Given the description of an element on the screen output the (x, y) to click on. 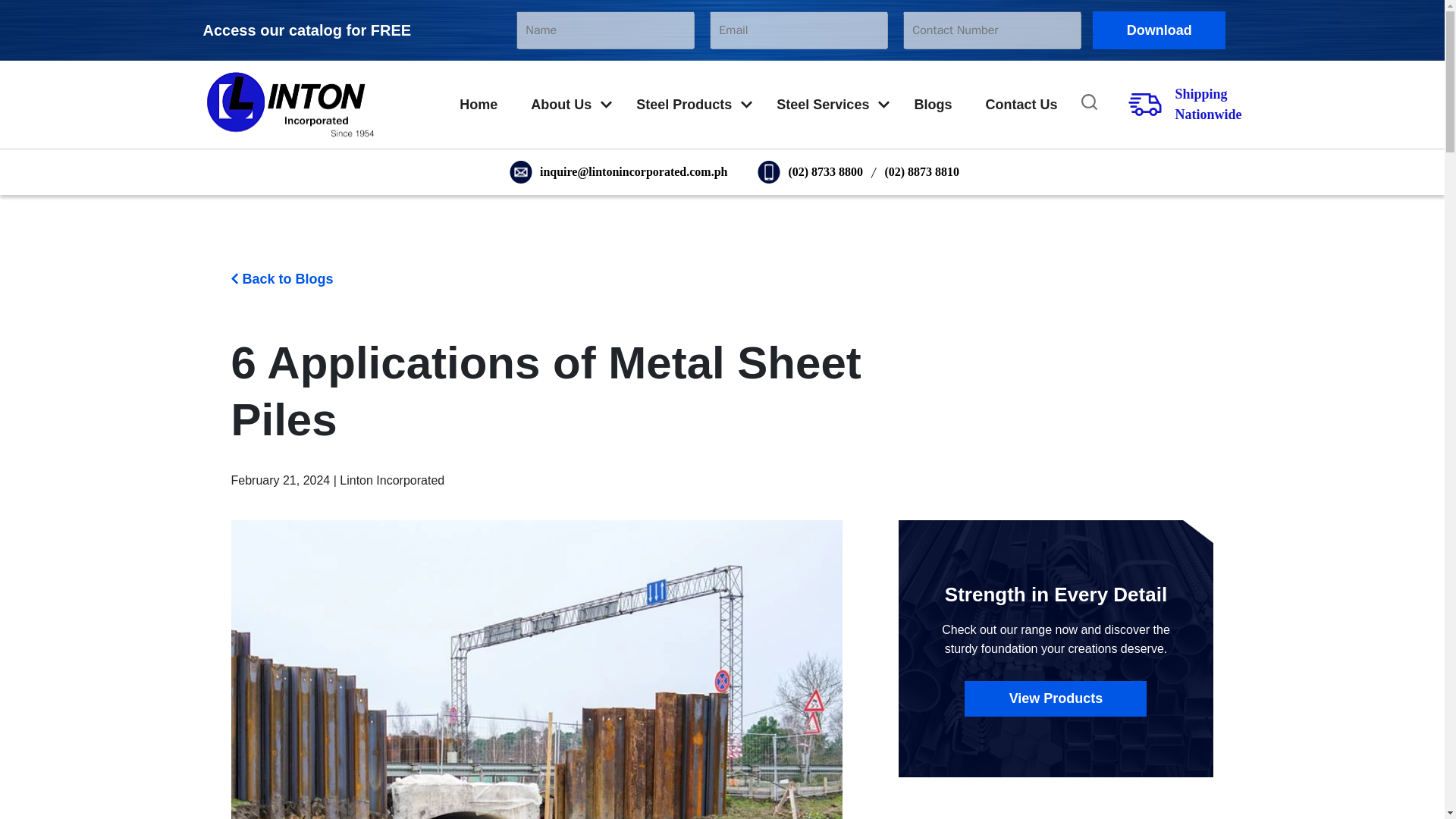
Blogs (932, 104)
Steel Services (822, 104)
Contact Us (1020, 104)
Download (1159, 30)
Home (477, 104)
Steel Products (684, 104)
About Us (560, 104)
Download (1159, 30)
Back to Blogs (281, 278)
